Given the description of an element on the screen output the (x, y) to click on. 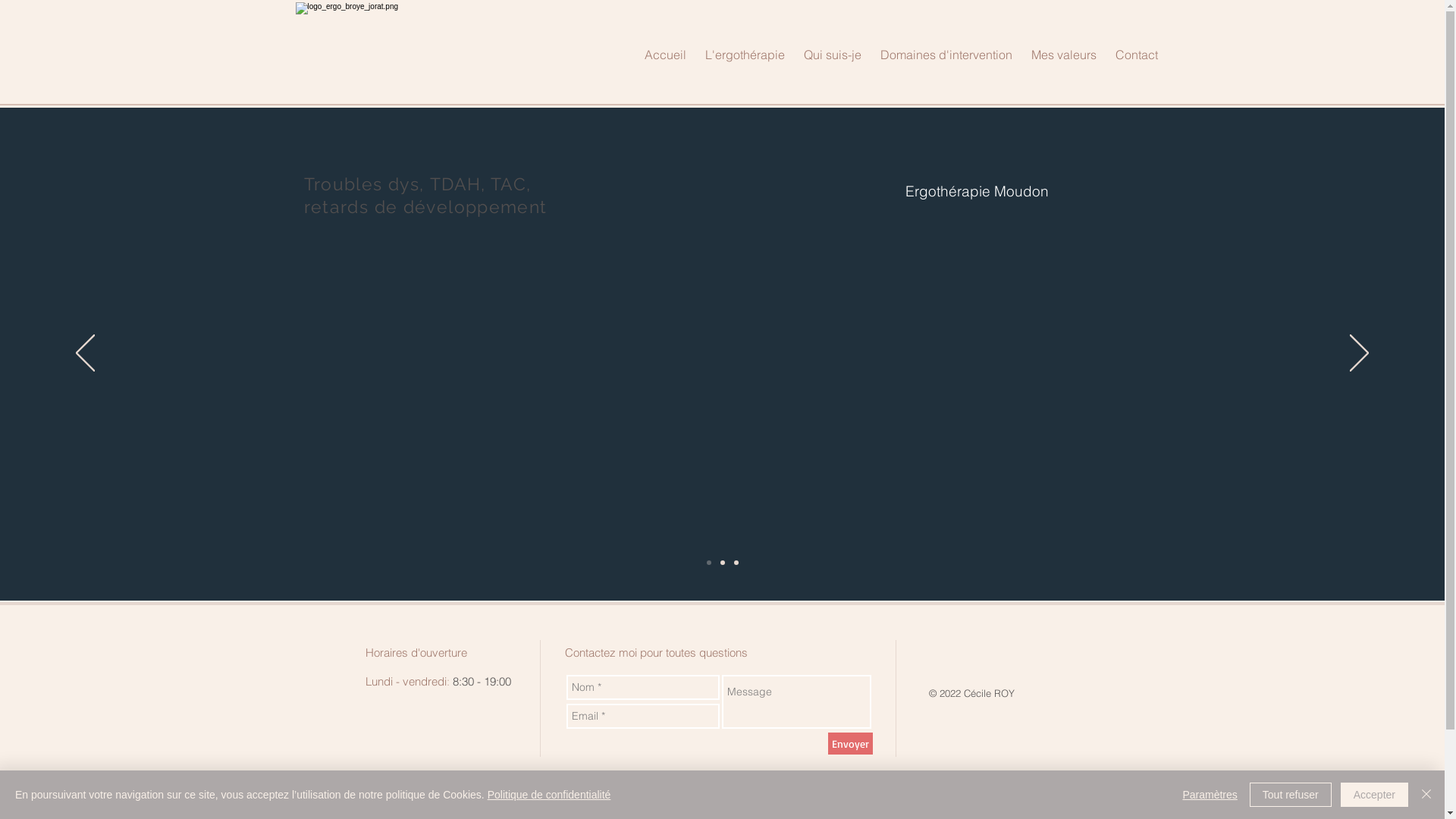
Mes valeurs Element type: text (1064, 54)
Accepter Element type: text (1374, 794)
Accueil Element type: text (665, 54)
Envoyer Element type: text (850, 743)
Qui suis-je Element type: text (832, 54)
Domaines d'intervention Element type: text (945, 54)
Contact Element type: text (1136, 54)
Tout refuser Element type: text (1290, 794)
